Given the description of an element on the screen output the (x, y) to click on. 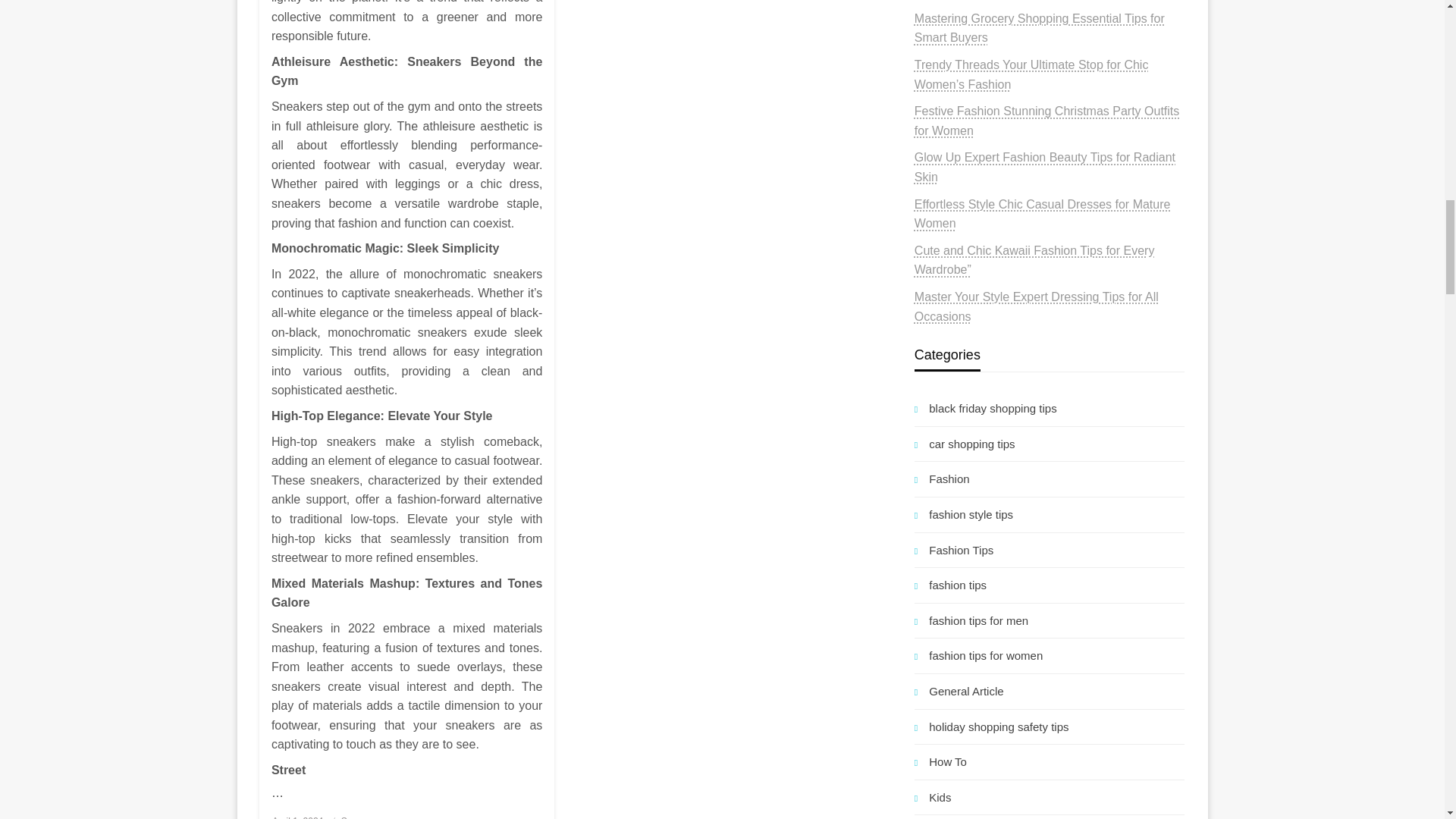
Suzana (356, 817)
Suzana (356, 817)
April 1, 2024 (297, 817)
